Given the description of an element on the screen output the (x, y) to click on. 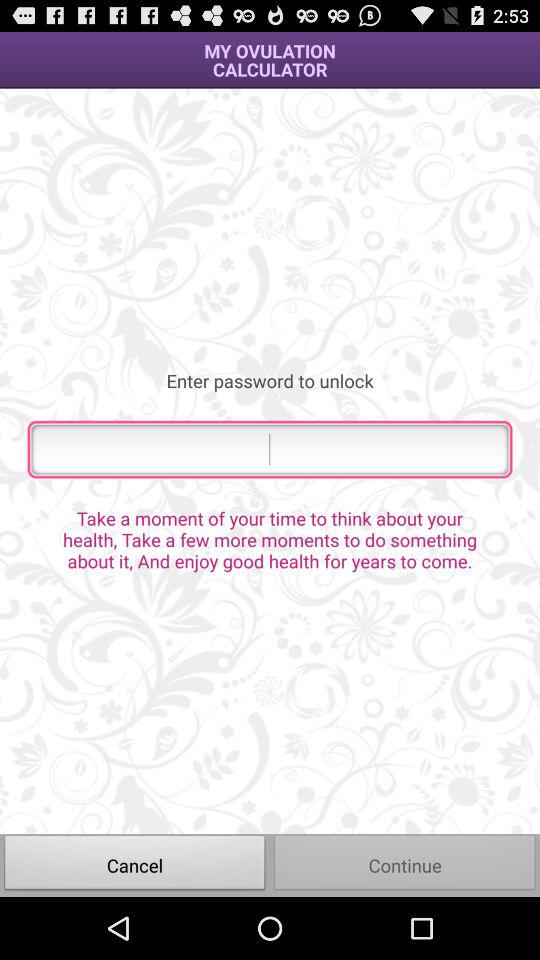
click the icon above cancel button (270, 539)
